Given the description of an element on the screen output the (x, y) to click on. 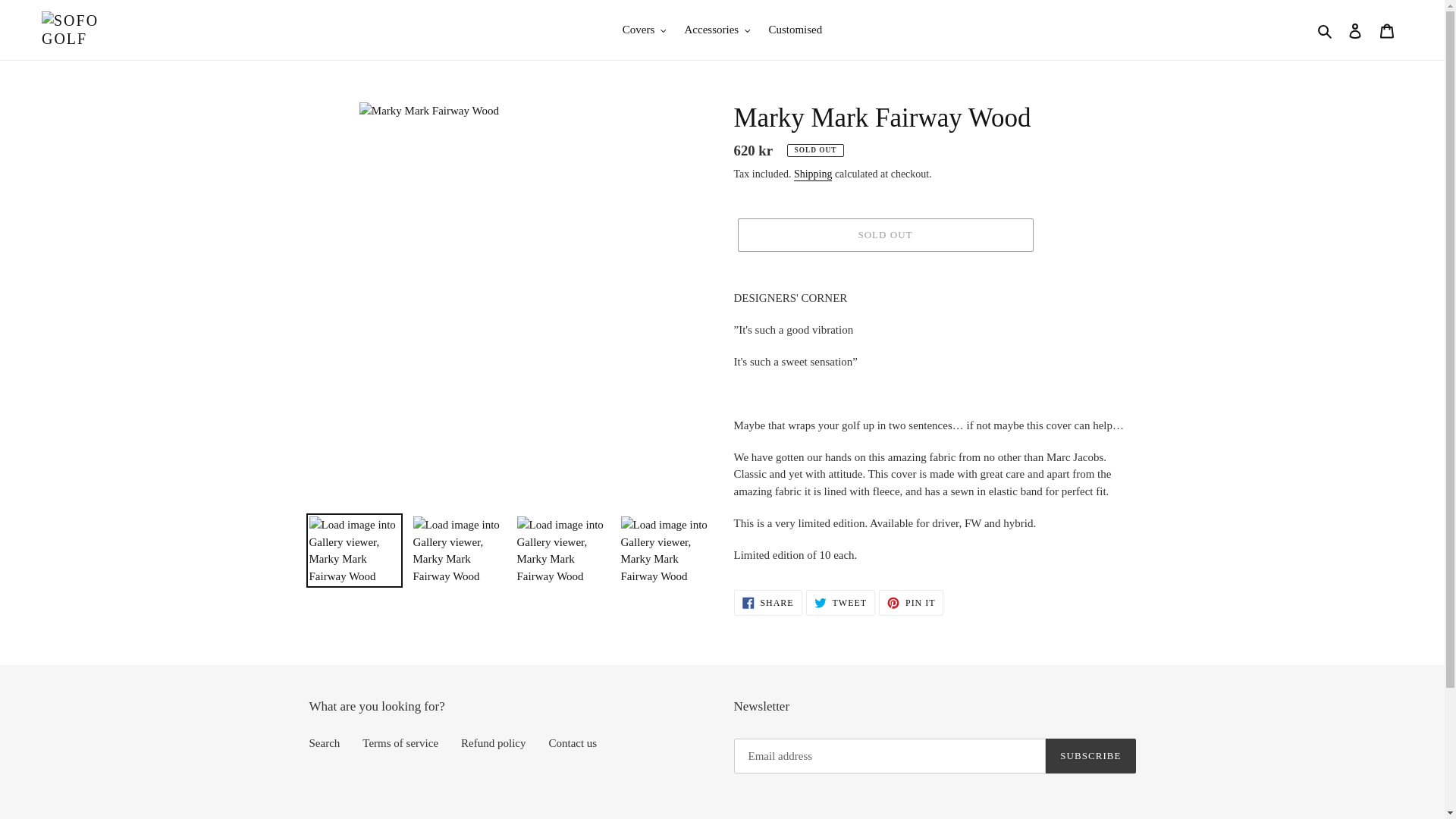
Log in (1355, 29)
Covers (644, 29)
Accessories (717, 29)
Customised (794, 29)
Search (1326, 29)
Cart (1387, 29)
